Given the description of an element on the screen output the (x, y) to click on. 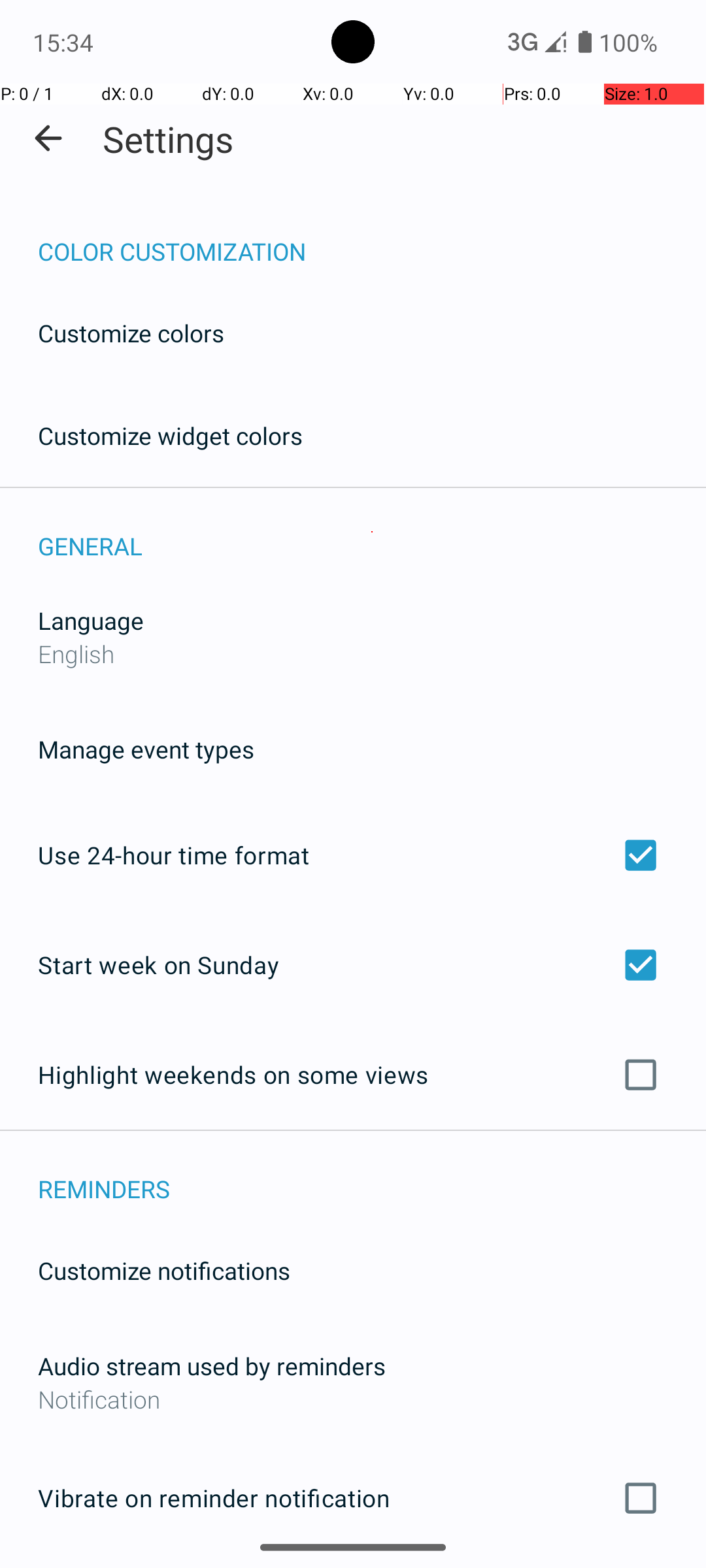
COLOR CUSTOMIZATION Element type: android.widget.TextView (371, 237)
REMINDERS Element type: android.widget.TextView (371, 1174)
Customize colors Element type: android.widget.TextView (130, 332)
Customize widget colors Element type: android.widget.TextView (170, 435)
English Element type: android.widget.TextView (75, 653)
Manage event types Element type: android.widget.TextView (145, 748)
Use 24-hour time format Element type: android.widget.CheckBox (352, 855)
Start week on Sunday Element type: android.widget.CheckBox (352, 964)
Highlight weekends on some views Element type: android.widget.CheckBox (352, 1074)
Customize notifications Element type: android.widget.TextView (163, 1270)
Audio stream used by reminders Element type: android.widget.TextView (211, 1365)
Notification Element type: android.widget.TextView (352, 1398)
Vibrate on reminder notification Element type: android.widget.CheckBox (352, 1497)
Loop reminders until dismissed Element type: android.widget.CheckBox (352, 1567)
